Given the description of an element on the screen output the (x, y) to click on. 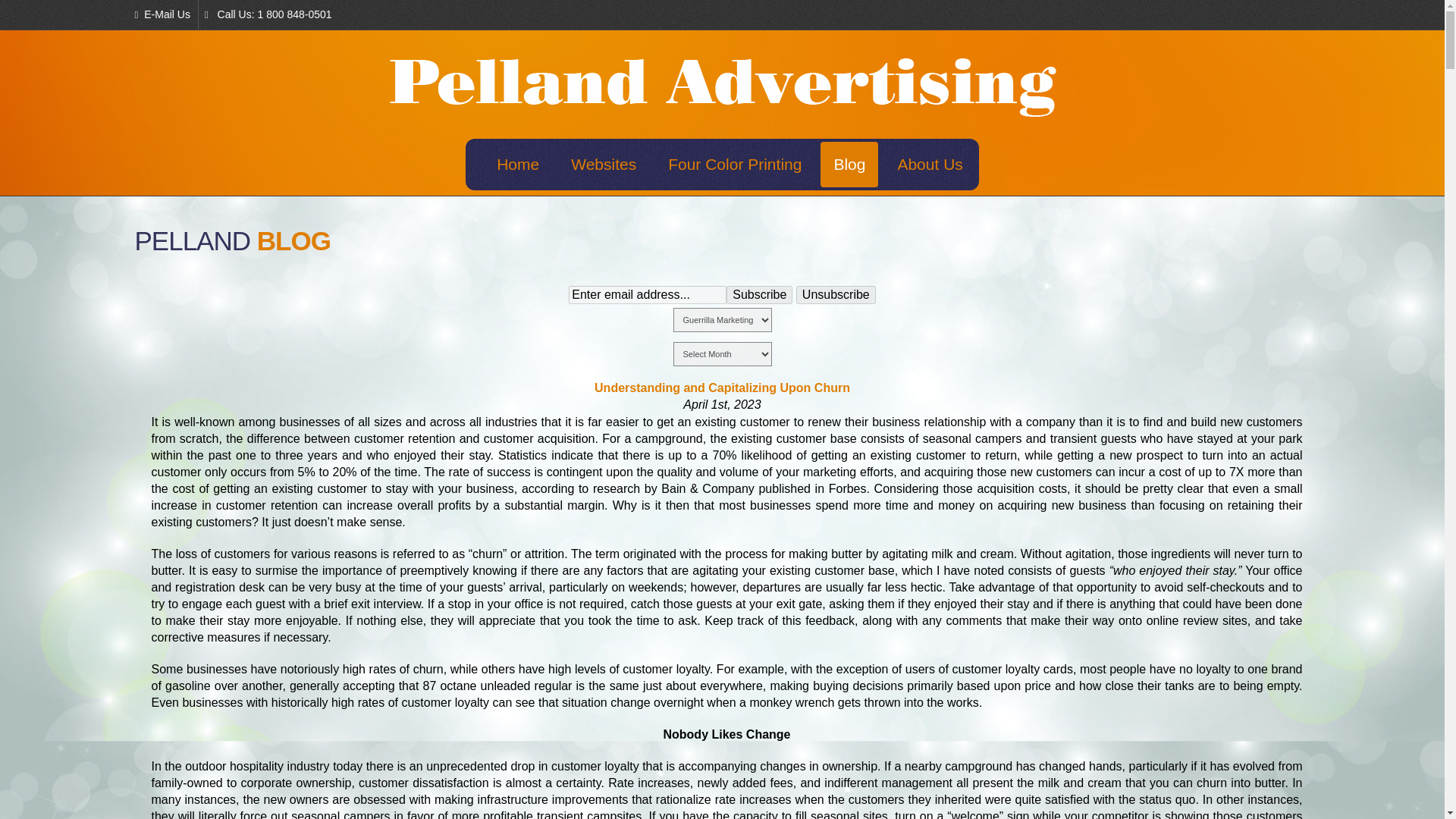
About Us (929, 164)
Four Color Printing (734, 164)
Subscribe (759, 294)
Call Us: 1 800 848-0501 (268, 14)
Enter email address... (647, 294)
Subscribe (759, 294)
Blog (849, 164)
Home (517, 164)
Unsubscribe (836, 294)
Websites (603, 164)
Unsubscribe (836, 294)
E-Mail Us (166, 14)
Understanding and Capitalizing Upon Churn (722, 387)
